Given the description of an element on the screen output the (x, y) to click on. 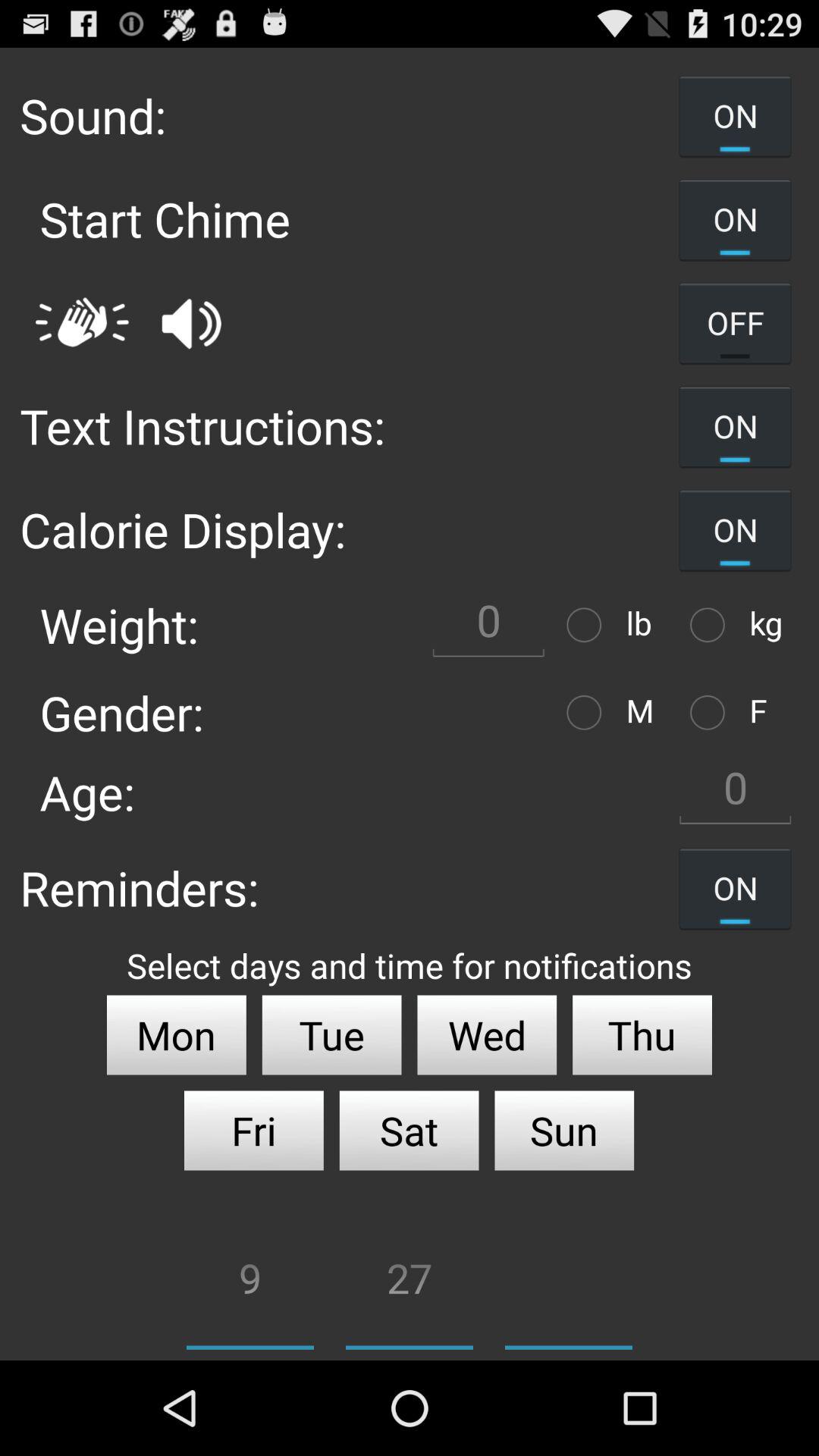
weight in lb box (488, 624)
